Given the description of an element on the screen output the (x, y) to click on. 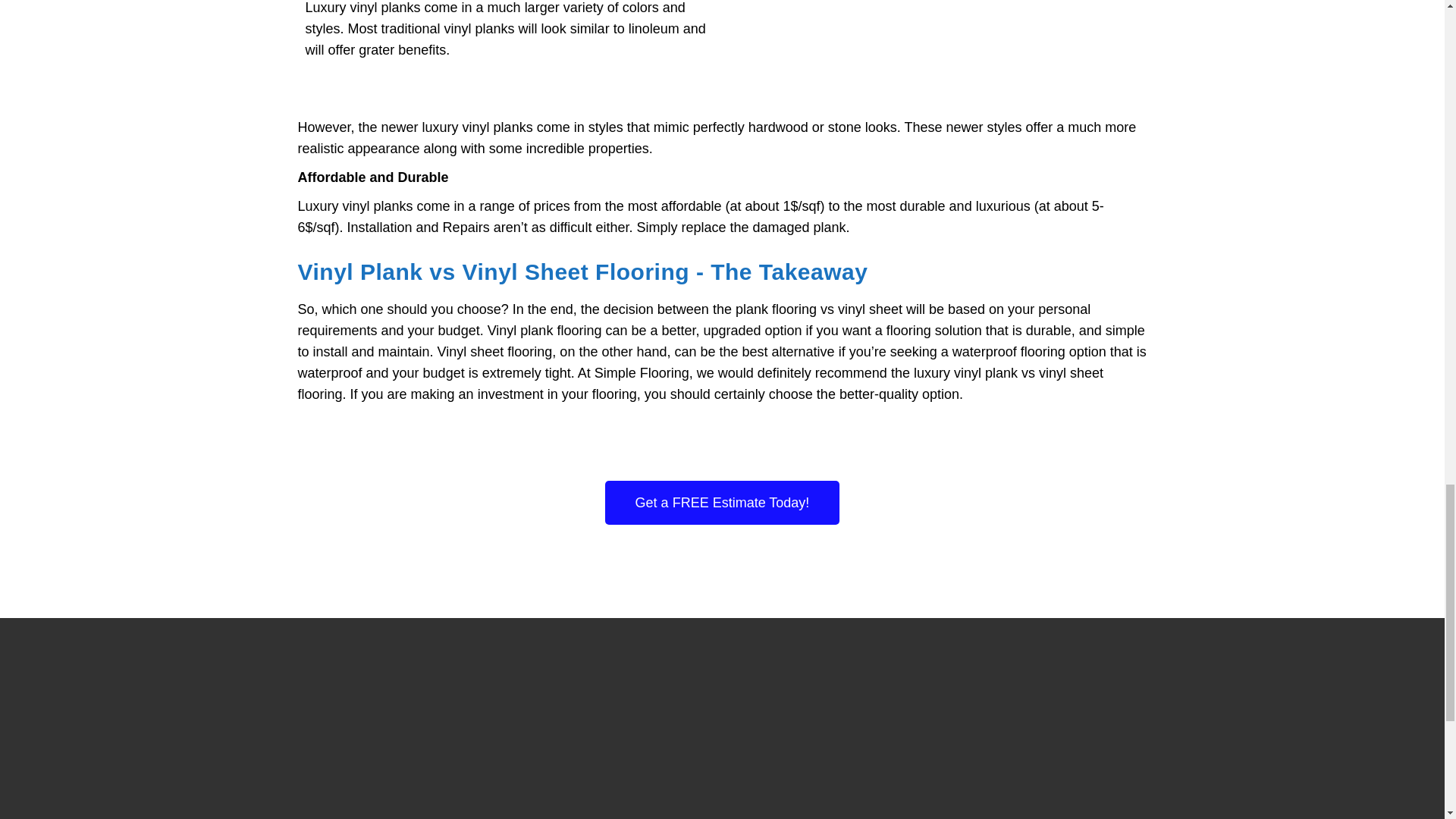
Get a FREE Estimate Today! (722, 502)
